Given the description of an element on the screen output the (x, y) to click on. 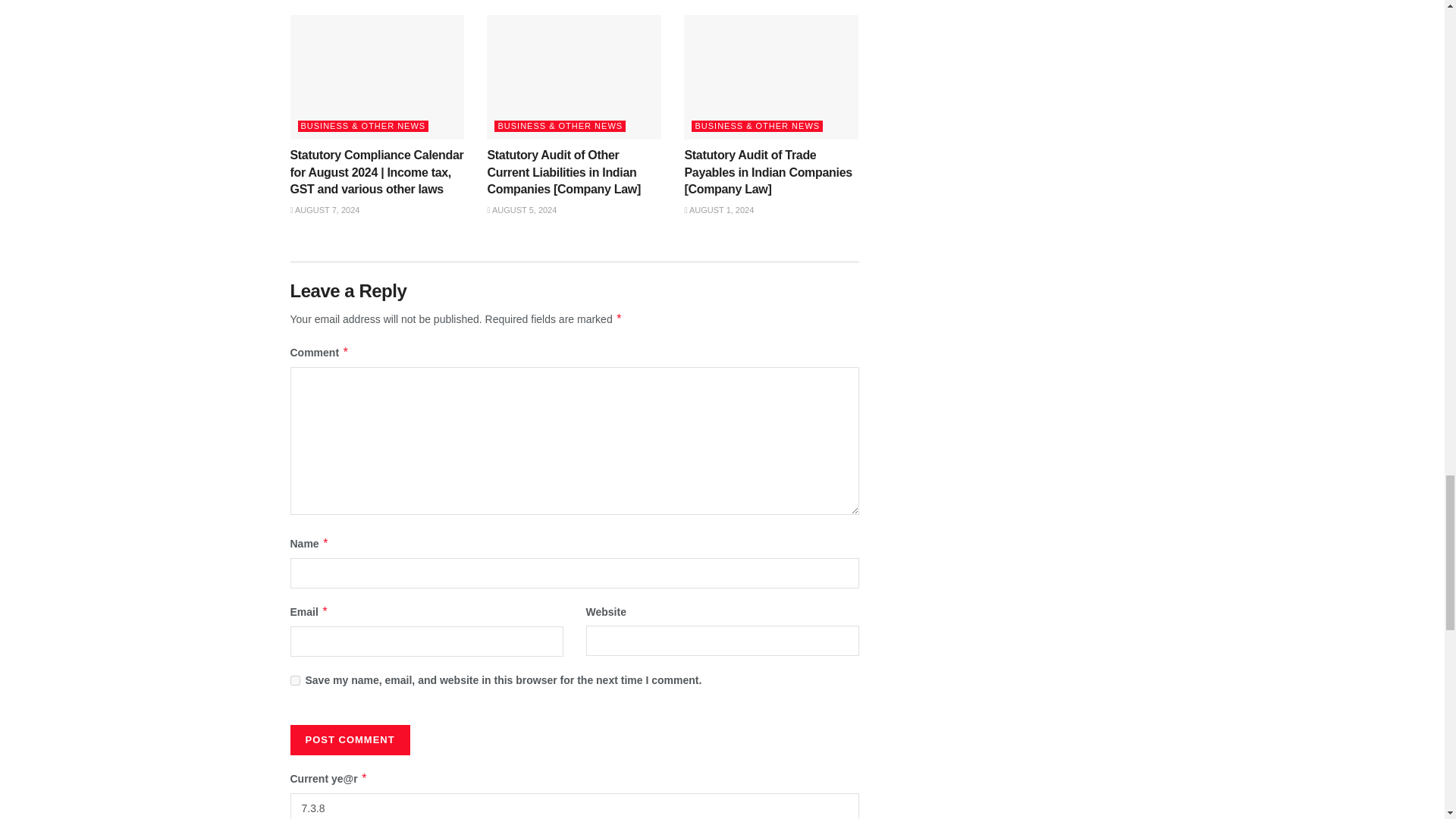
yes (294, 680)
Post Comment (349, 739)
7.3.8 (574, 806)
